Given the description of an element on the screen output the (x, y) to click on. 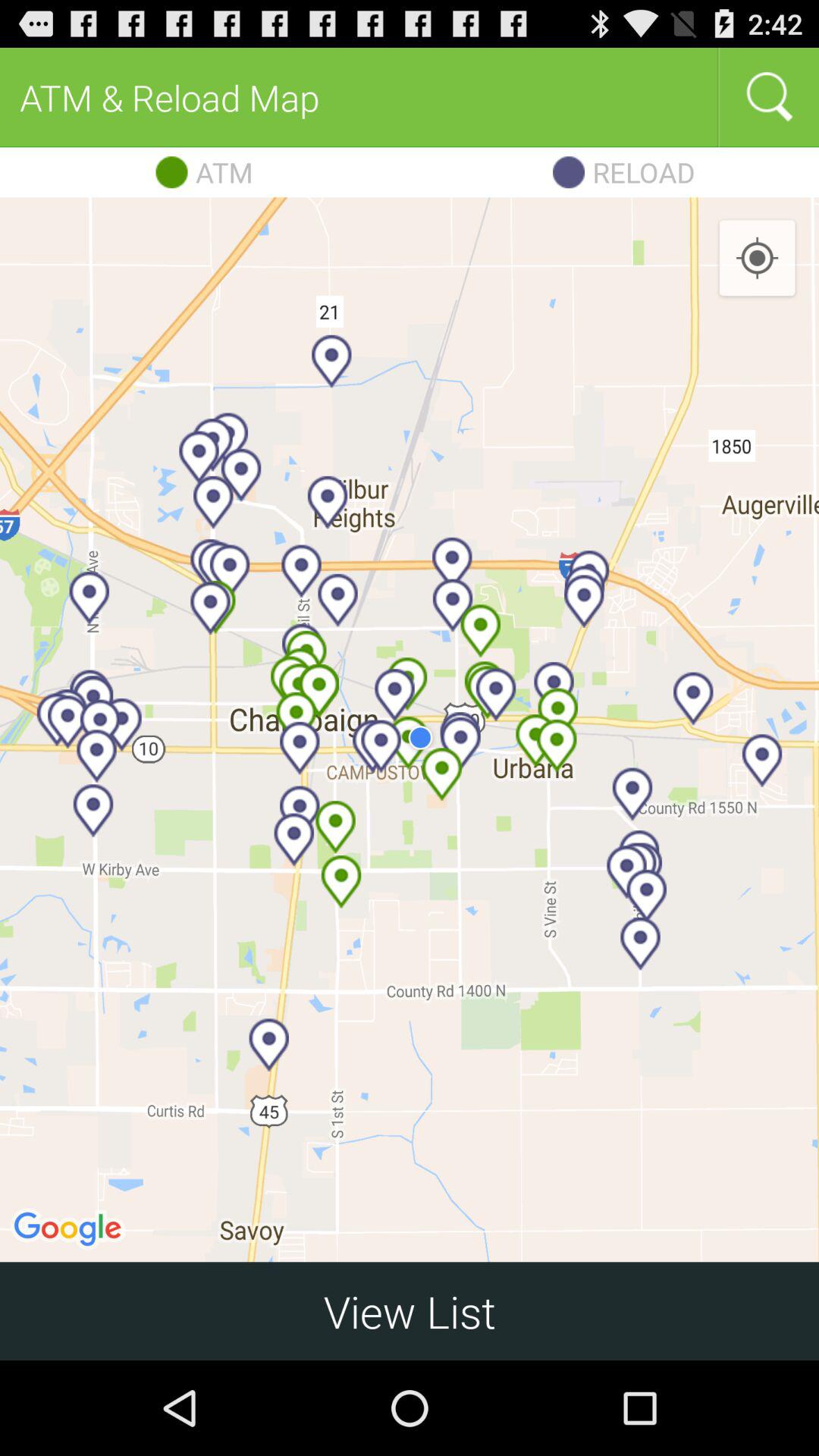
turn off the icon above the view list icon (757, 258)
